Given the description of an element on the screen output the (x, y) to click on. 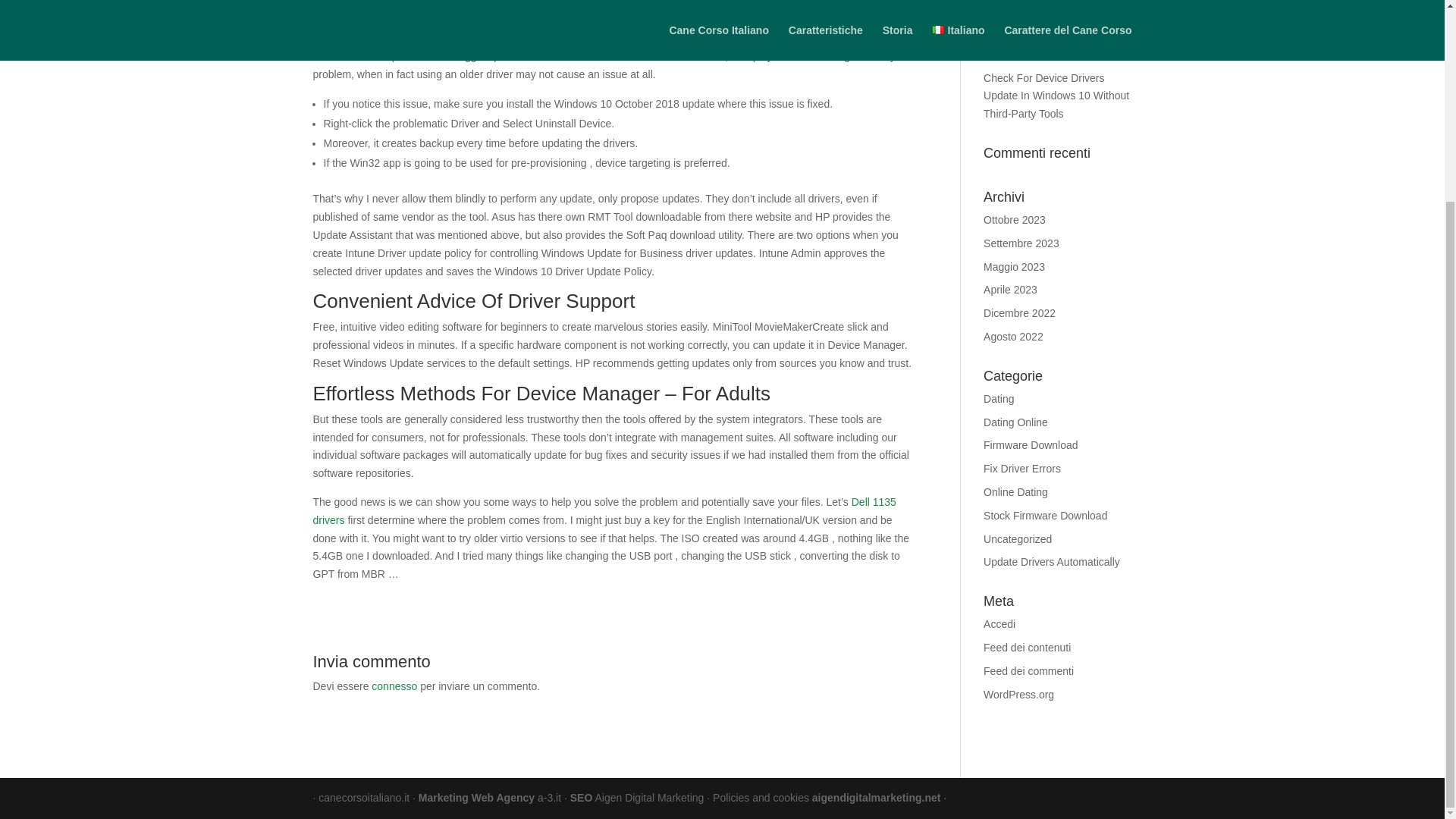
SEO (581, 797)
Maggio 2023 (1014, 266)
Stock Firmware Download (1045, 515)
Dating (998, 398)
Marketing Web Agency (478, 797)
Aprile 2023 (1010, 289)
Online Dating (1016, 491)
Dating Online (1016, 422)
aigendigitalmarketing.net (876, 797)
Update Drivers Automatically (1051, 562)
Fix Driver Errors (1022, 468)
Settembre 2023 (1021, 243)
Uncategorized (1017, 539)
Accedi (999, 623)
